Given the description of an element on the screen output the (x, y) to click on. 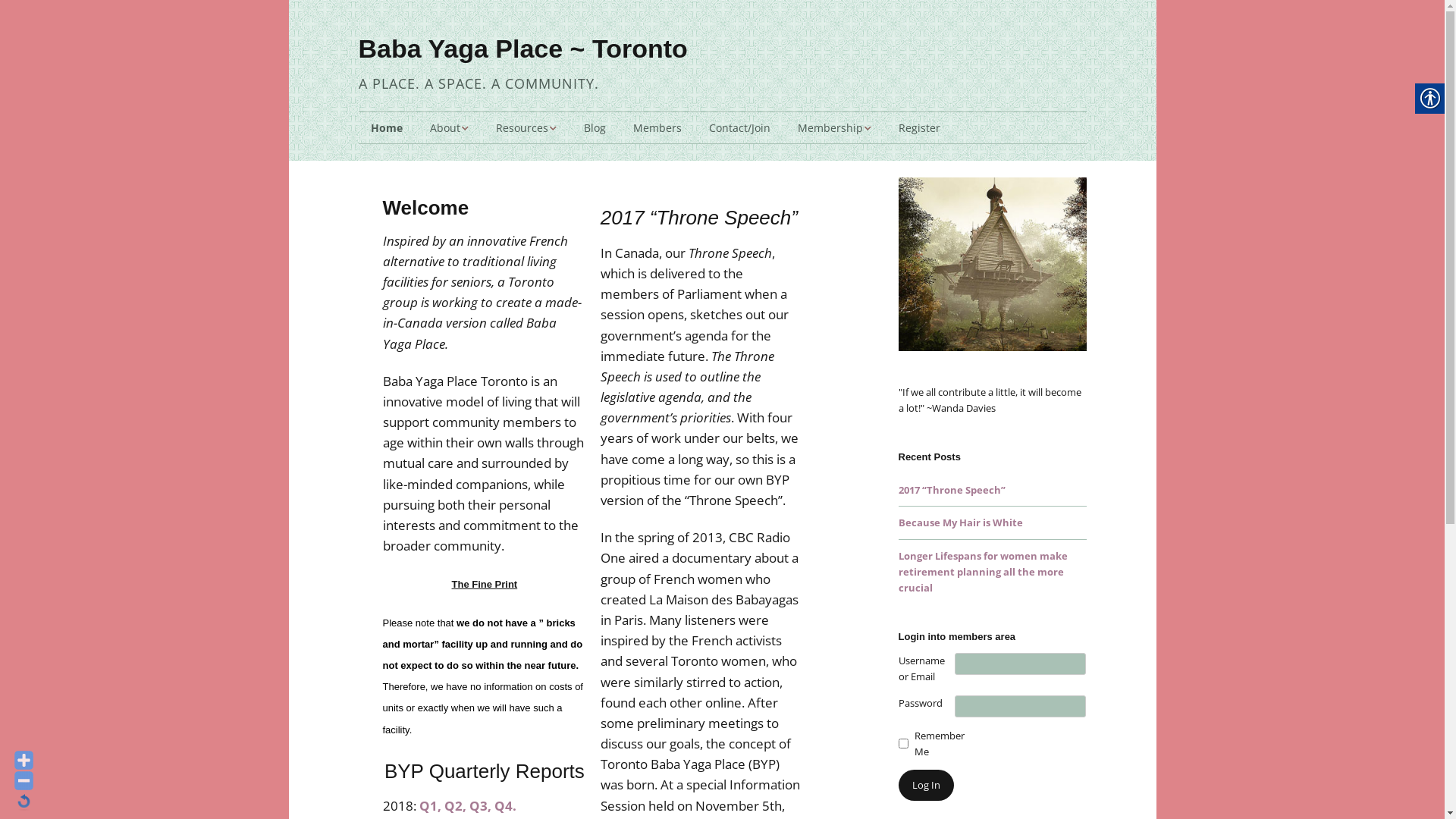
Baba Yaga Place ~ Toronto Element type: text (522, 48)
Home Element type: text (385, 128)
. Element type: text (514, 805)
Increase font size Element type: hover (23, 759)
About Element type: text (448, 128)
Membership Element type: text (834, 128)
Q1, Element type: text (429, 805)
Default font size Element type: hover (23, 800)
Decrease font size Element type: hover (23, 780)
Resources Element type: text (525, 128)
Blog Element type: text (594, 128)
Q4 Element type: text (503, 805)
Q3, Element type: text (479, 805)
Because My Hair is White Element type: text (959, 522)
Members Element type: text (656, 128)
Register Element type: text (918, 128)
Log In Element type: text (925, 784)
Contact/Join Element type: text (738, 128)
Q2, Element type: text (455, 805)
